Given the description of an element on the screen output the (x, y) to click on. 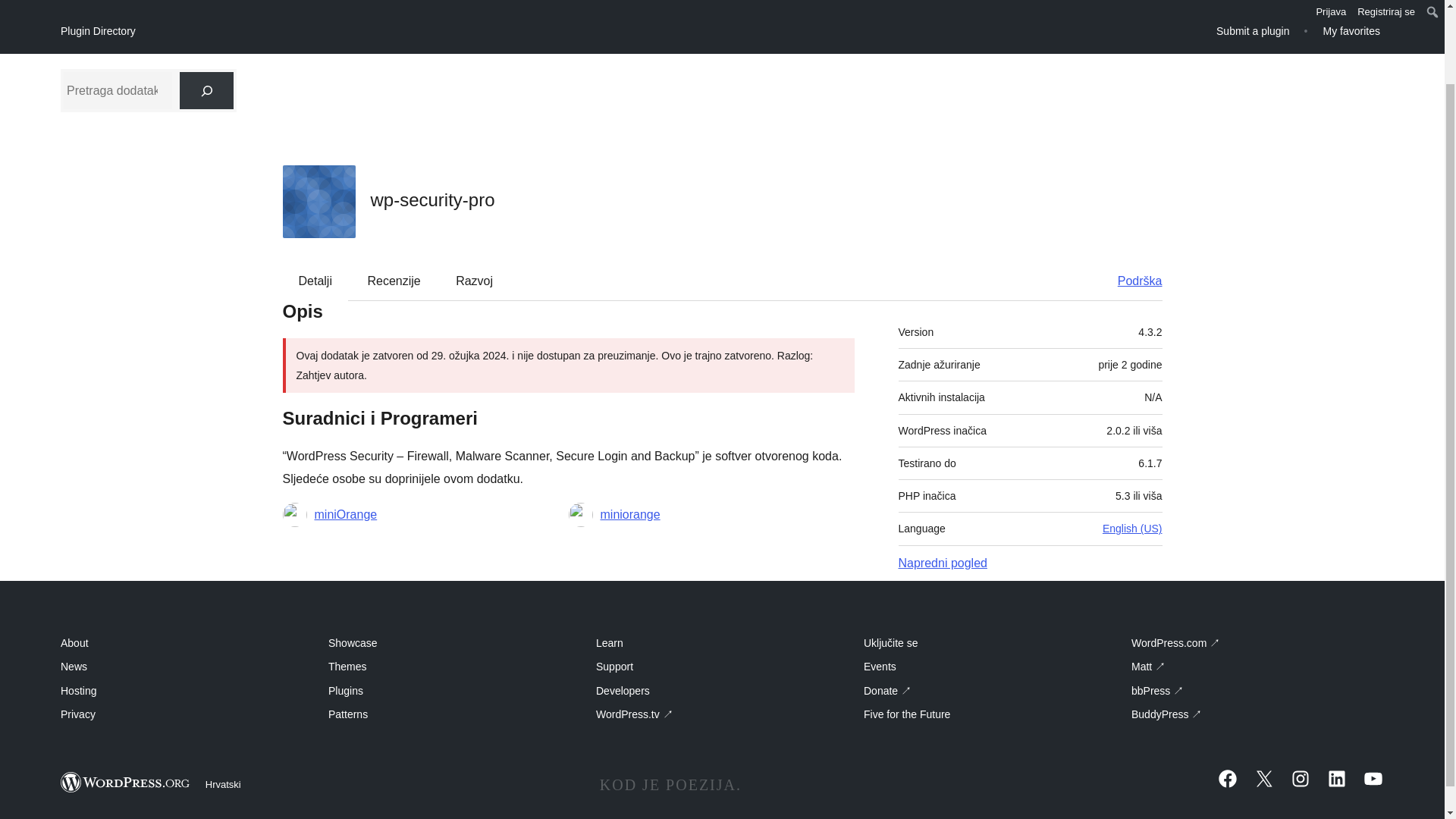
Codex (539, 2)
Hrvatski prijevod (469, 2)
Submit a plugin (1253, 31)
Detalji (315, 280)
Vijesti (247, 2)
Teme (156, 2)
Plugin Directory (97, 30)
WordPress.org (125, 782)
Recenzije (393, 280)
Dodaci (201, 2)
Info (339, 2)
My favorites (1351, 31)
Kontakt (587, 2)
Openverse (389, 2)
Razvoj (474, 280)
